Given the description of an element on the screen output the (x, y) to click on. 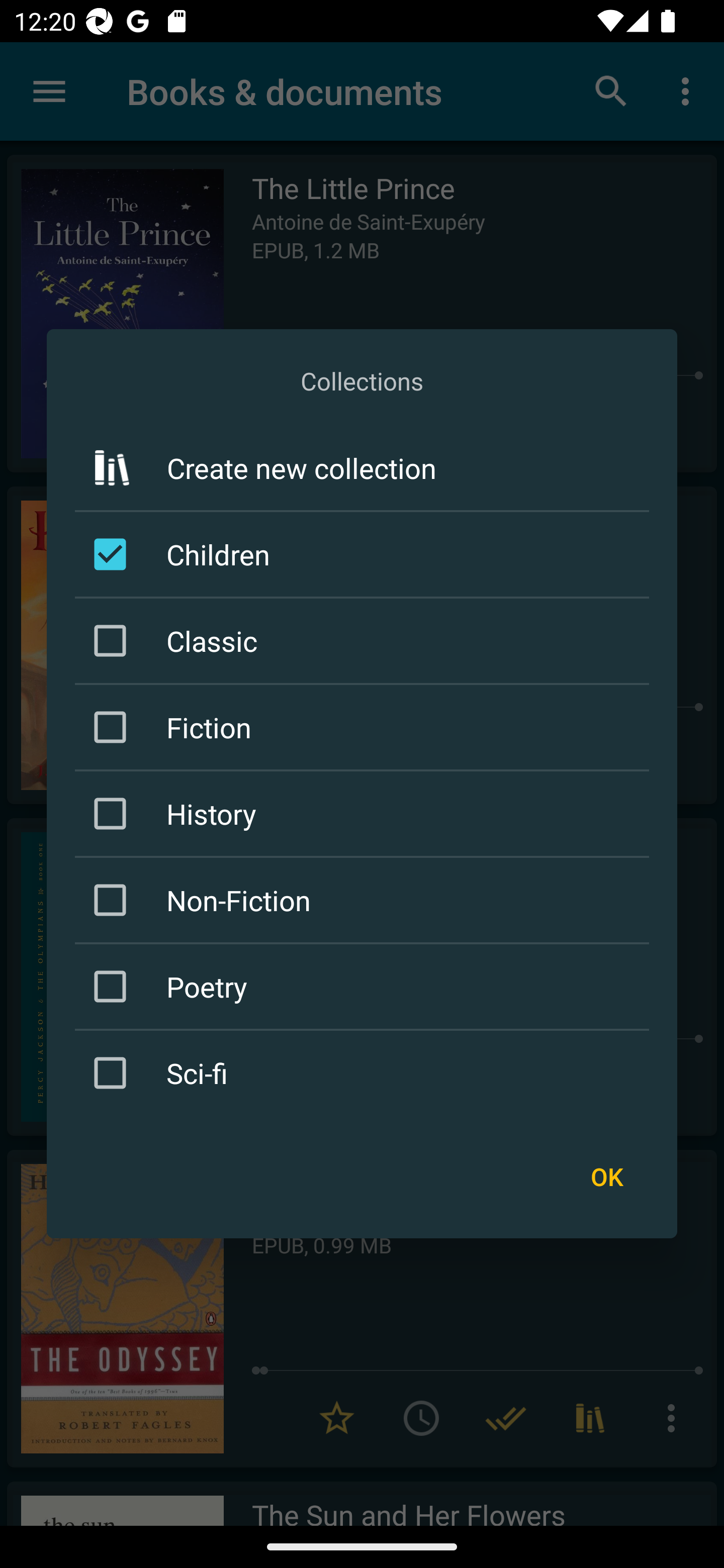
Create new collection (361, 466)
Children (365, 553)
Classic (365, 640)
Fiction (365, 727)
History (365, 813)
Non-Fiction (365, 899)
Poetry (365, 985)
Sci-fi (365, 1072)
OK (606, 1176)
